Given the description of an element on the screen output the (x, y) to click on. 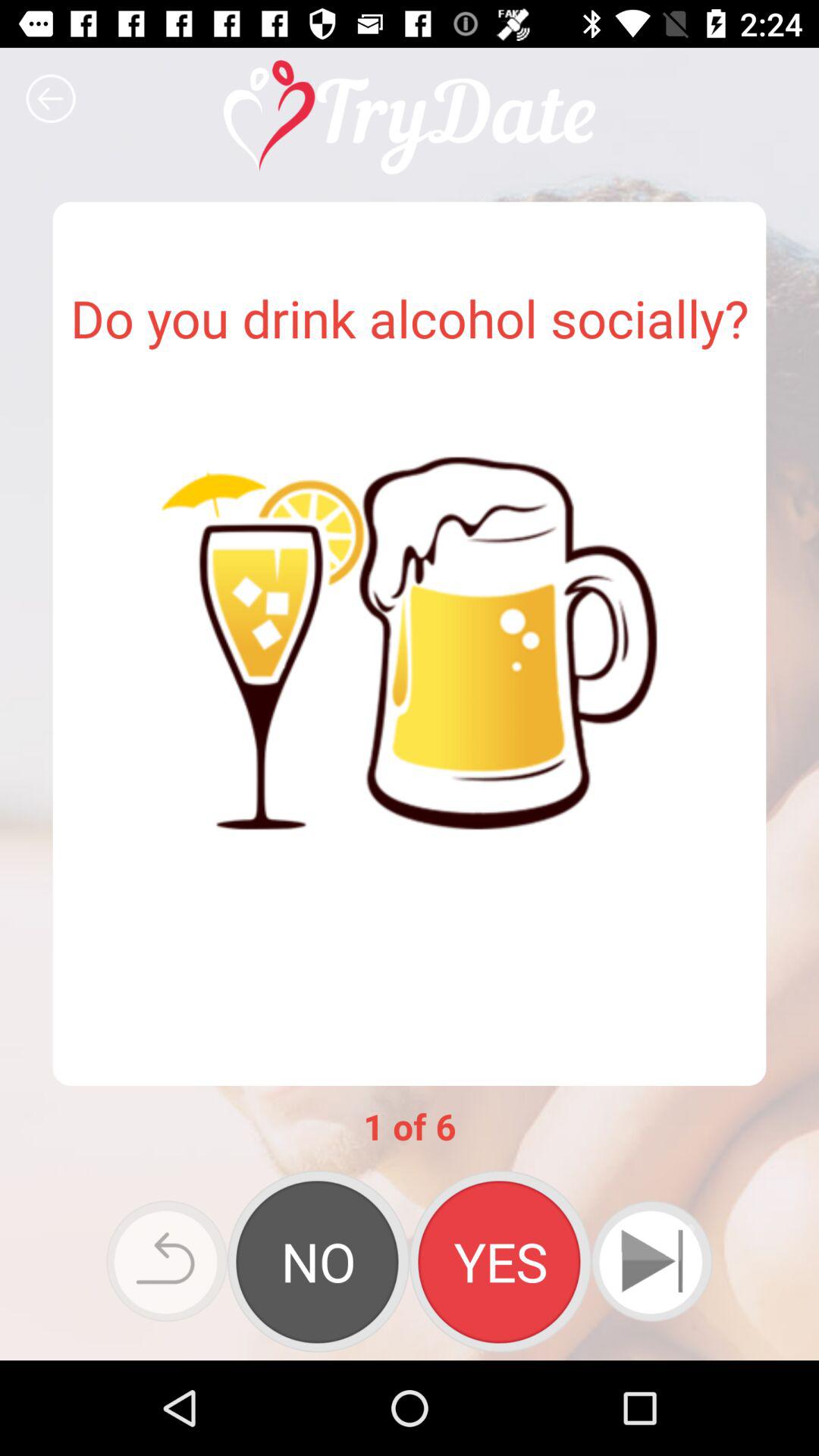
tab to select select to yes (500, 1261)
